Given the description of an element on the screen output the (x, y) to click on. 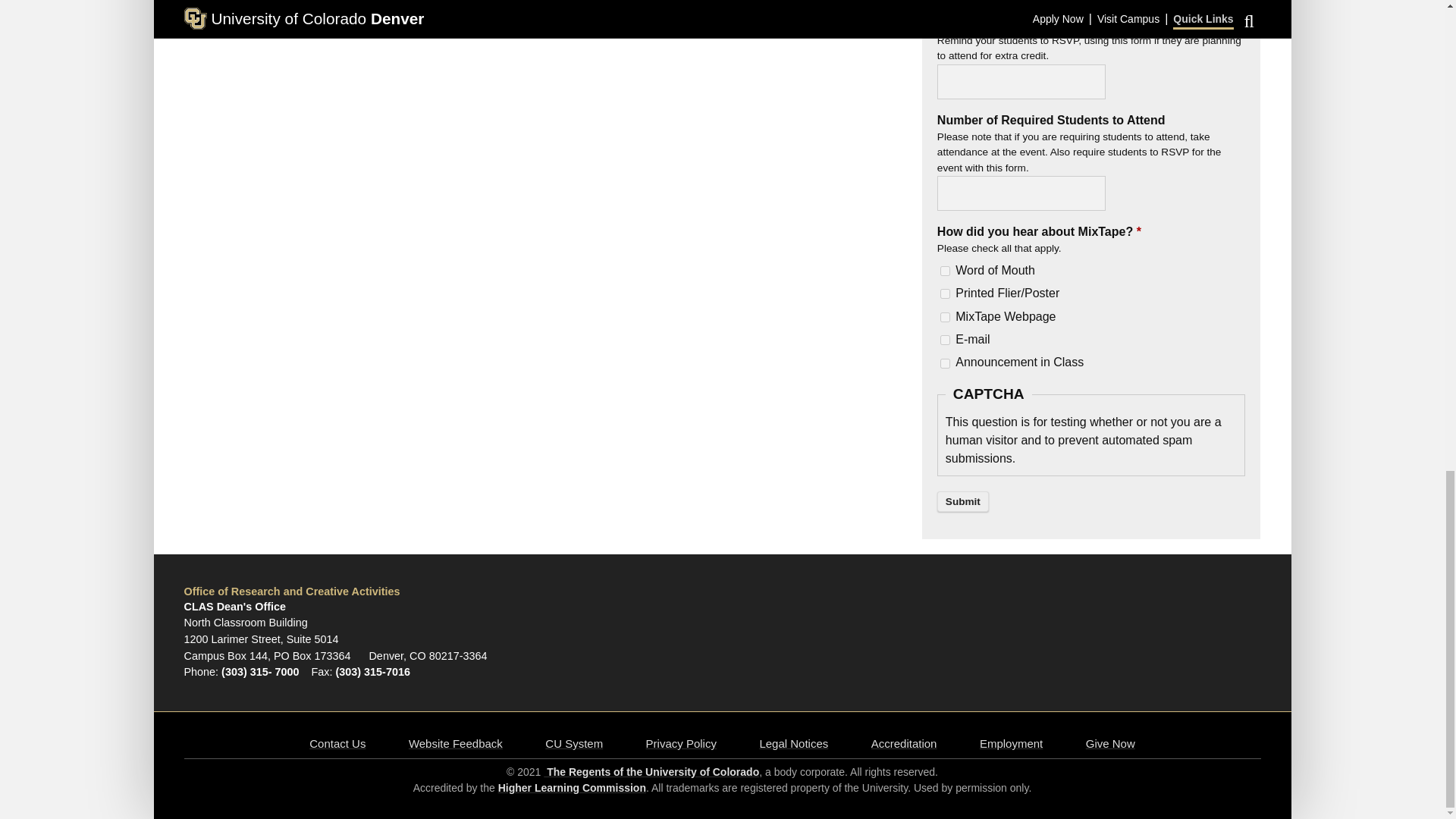
hear4 (945, 339)
hear3 (945, 317)
hear2 (945, 293)
hear5 (945, 363)
hear1 (945, 271)
